Given the description of an element on the screen output the (x, y) to click on. 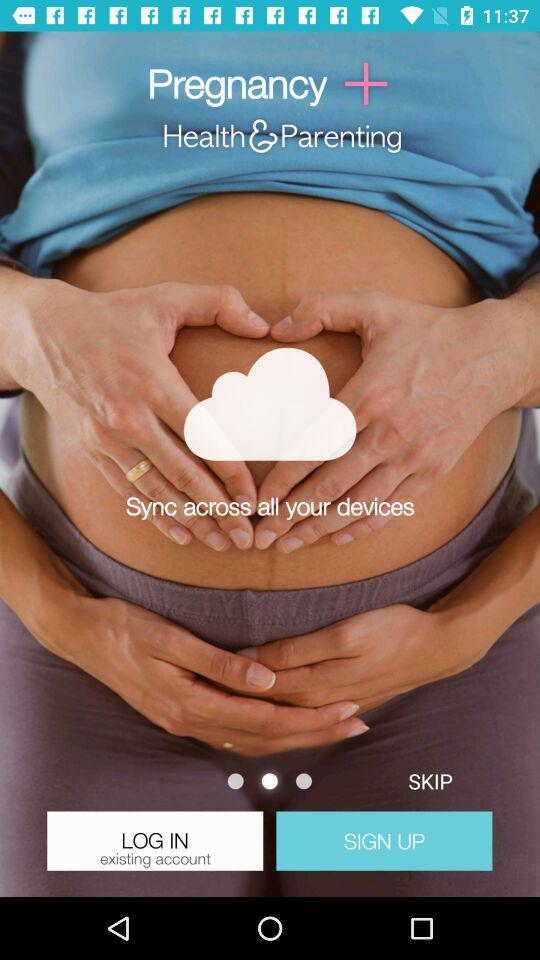
turn off app below sync across all icon (430, 780)
